Given the description of an element on the screen output the (x, y) to click on. 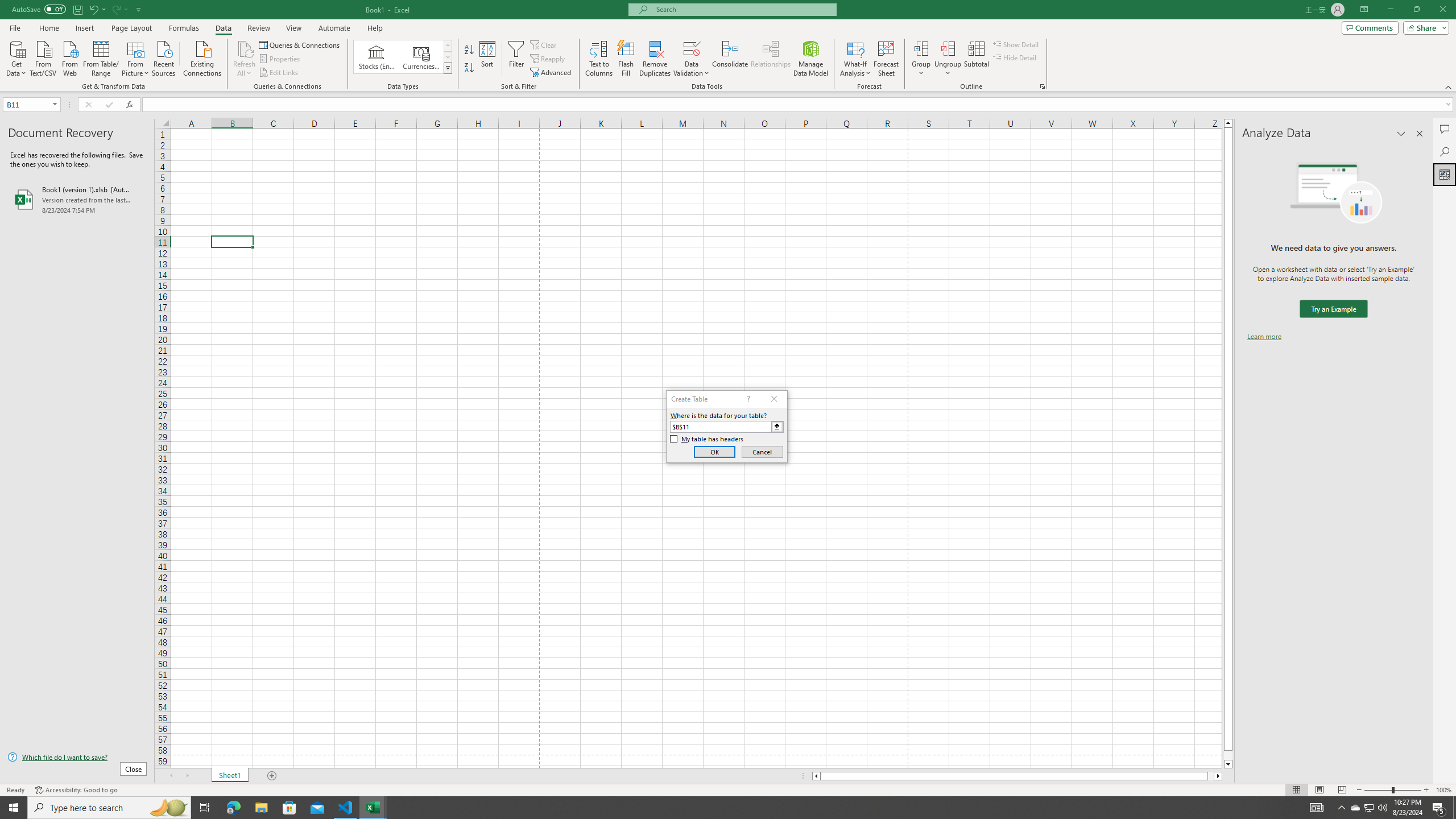
Class: NetUIScrollBar (1016, 775)
AutomationID: ConvertToLinkedEntity (403, 56)
Text to Columns... (598, 58)
